Given the description of an element on the screen output the (x, y) to click on. 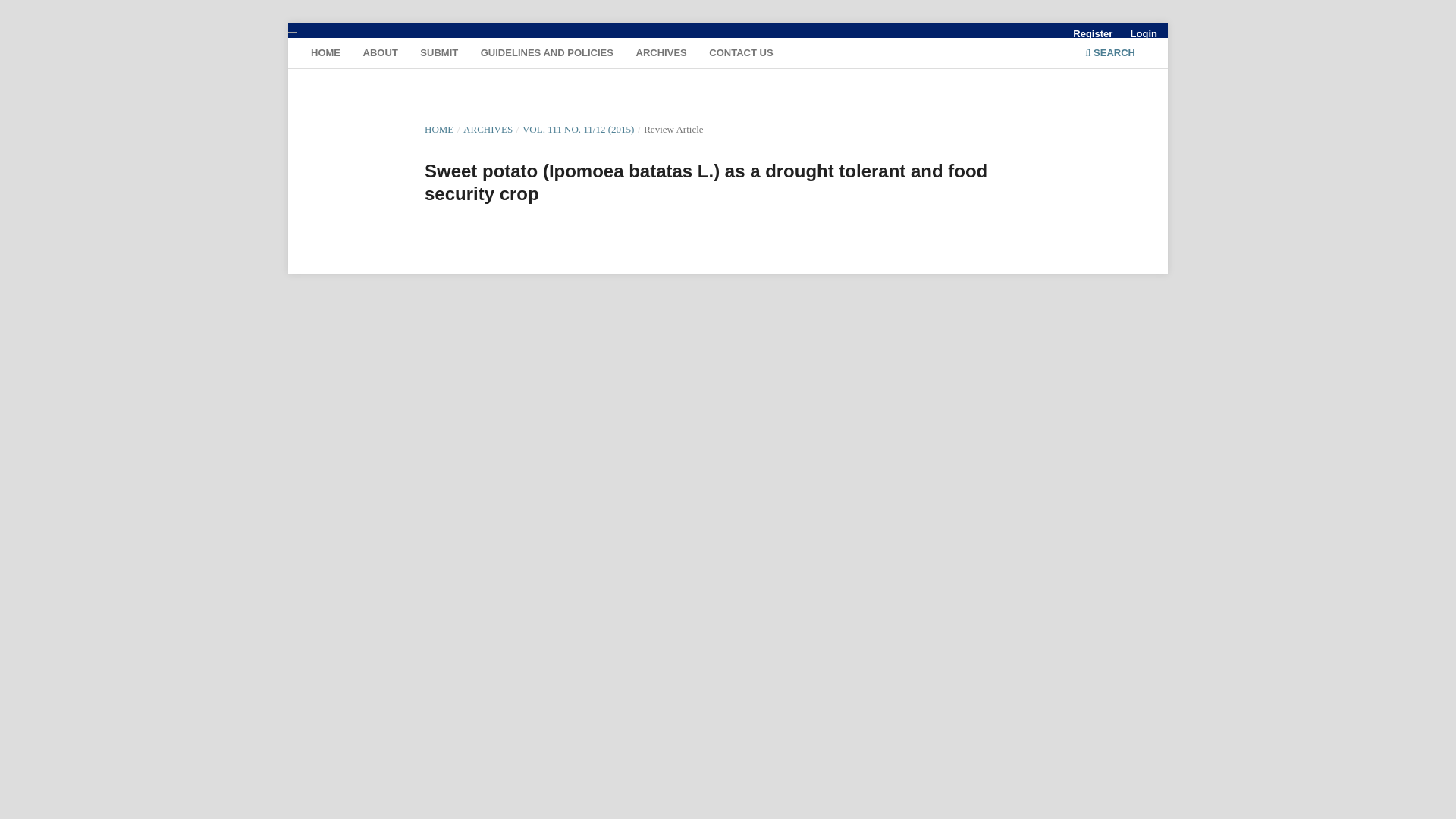
SEARCH (1110, 54)
ABOUT (380, 54)
ARCHIVES (660, 54)
ARCHIVES (487, 129)
HOME (325, 54)
Login (1143, 33)
Register (1092, 33)
GUIDELINES AND POLICIES (546, 54)
HOME (438, 129)
CONTACT US (740, 54)
SUBMIT (438, 54)
